Given the description of an element on the screen output the (x, y) to click on. 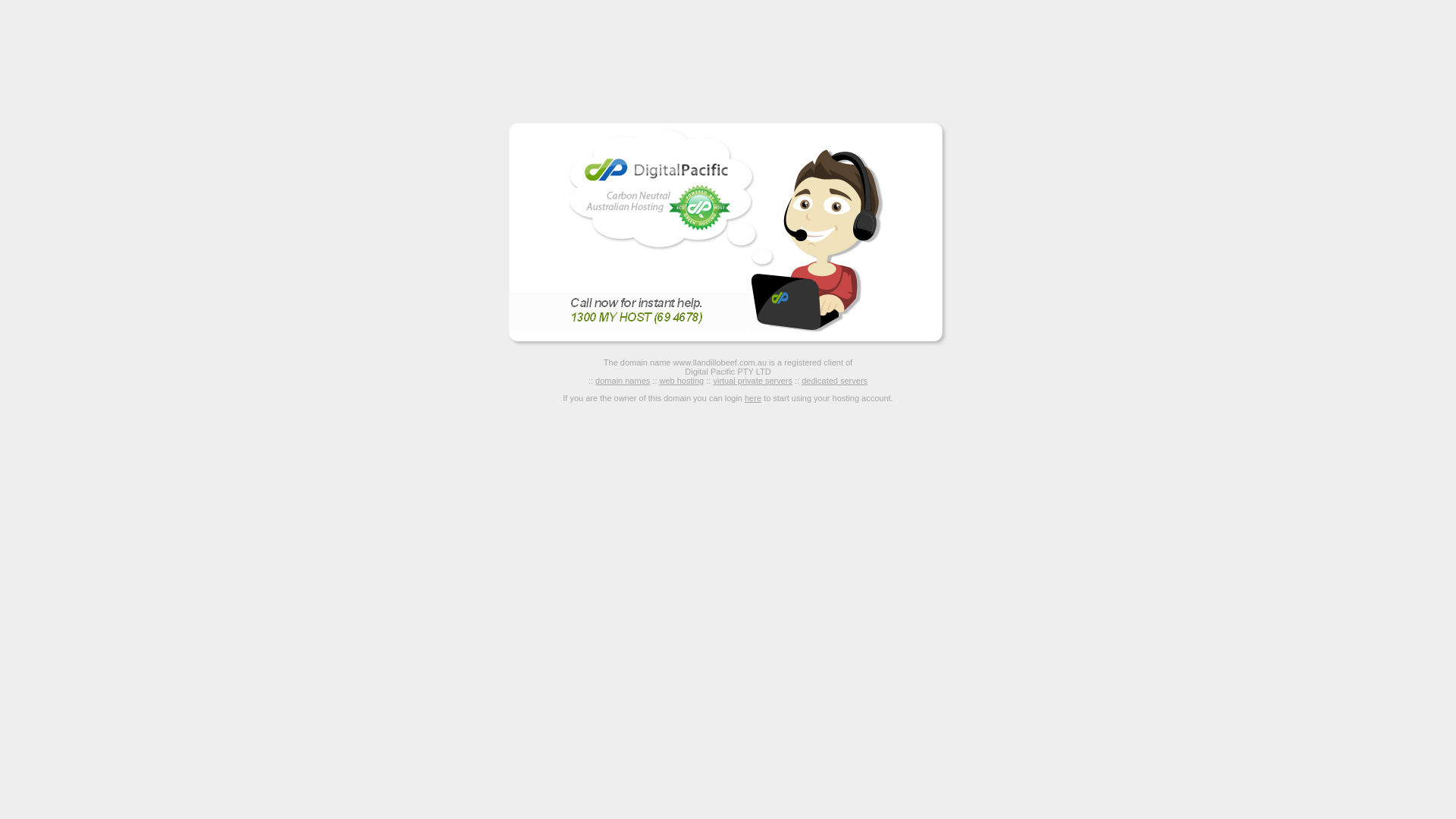
domain names Element type: text (622, 380)
here Element type: text (752, 397)
virtual private servers Element type: text (752, 380)
web hosting Element type: text (681, 380)
dedicated servers Element type: text (834, 380)
